Given the description of an element on the screen output the (x, y) to click on. 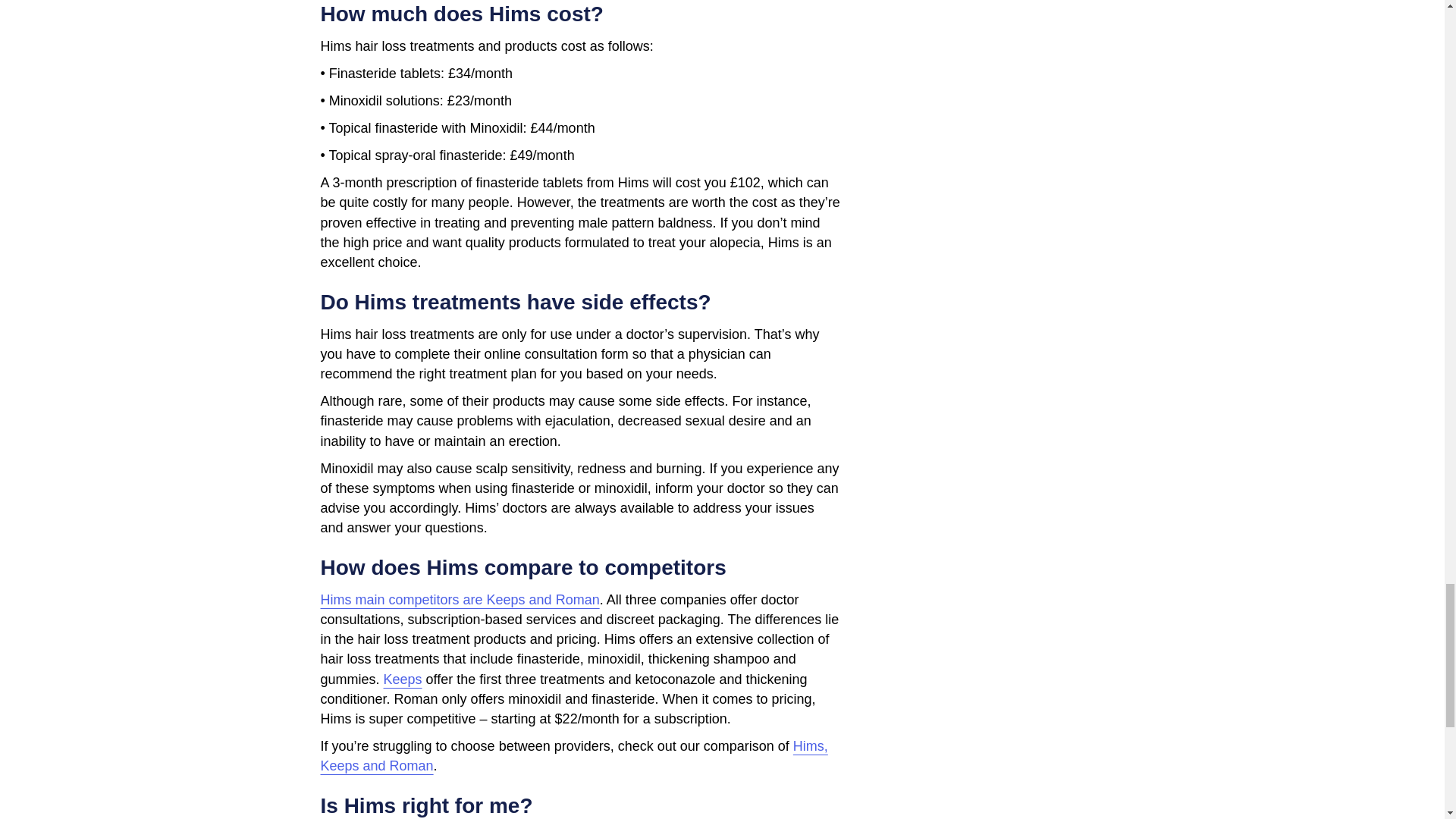
Hims, Keeps and Roman (573, 755)
Keeps (403, 679)
Hims main competitors are Keeps and Roman (459, 599)
